Given the description of an element on the screen output the (x, y) to click on. 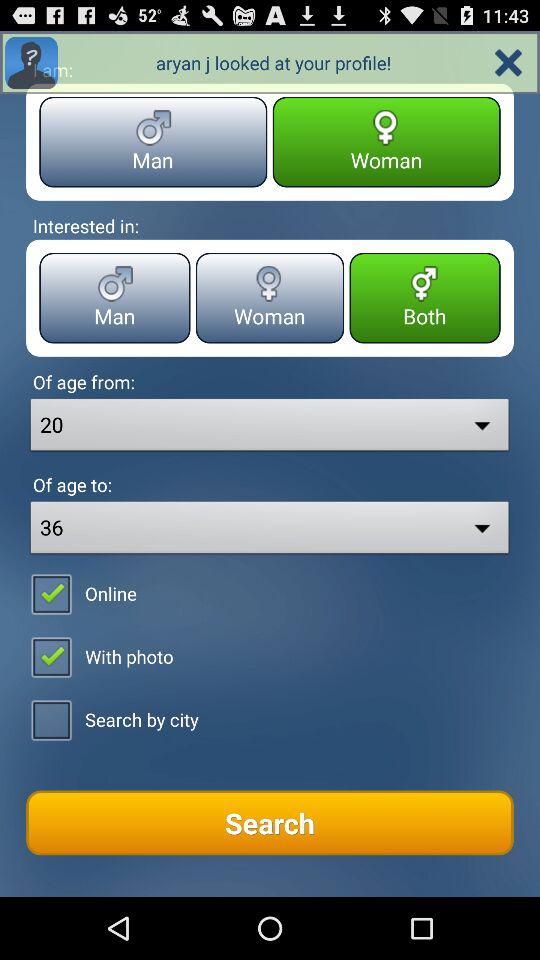
click on search button (269, 823)
click on green colour text next to woman (425, 298)
select the first category below interested in (114, 298)
select the drop down from of age from (269, 426)
the second check box along with text with photo (99, 656)
dropdown below the text called of age to (269, 529)
